Given the description of an element on the screen output the (x, y) to click on. 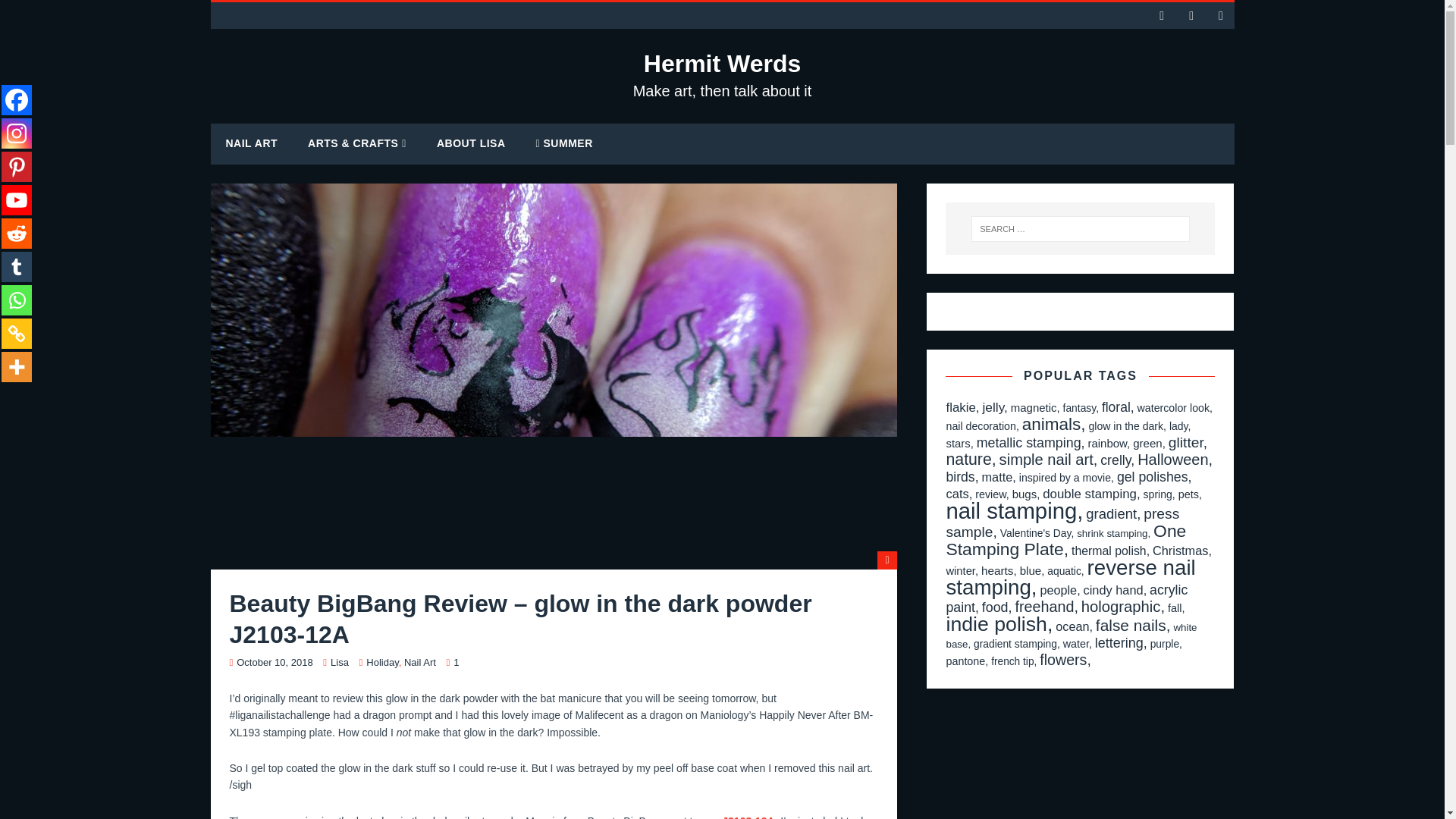
ABOUT LISA (471, 142)
Nail Art (419, 662)
Pinterest (16, 166)
J2103-12A (748, 816)
Holiday (722, 74)
NAIL ART (381, 662)
October 10, 2018 (252, 142)
Instagram (274, 662)
Facebook (16, 132)
